Given the description of an element on the screen output the (x, y) to click on. 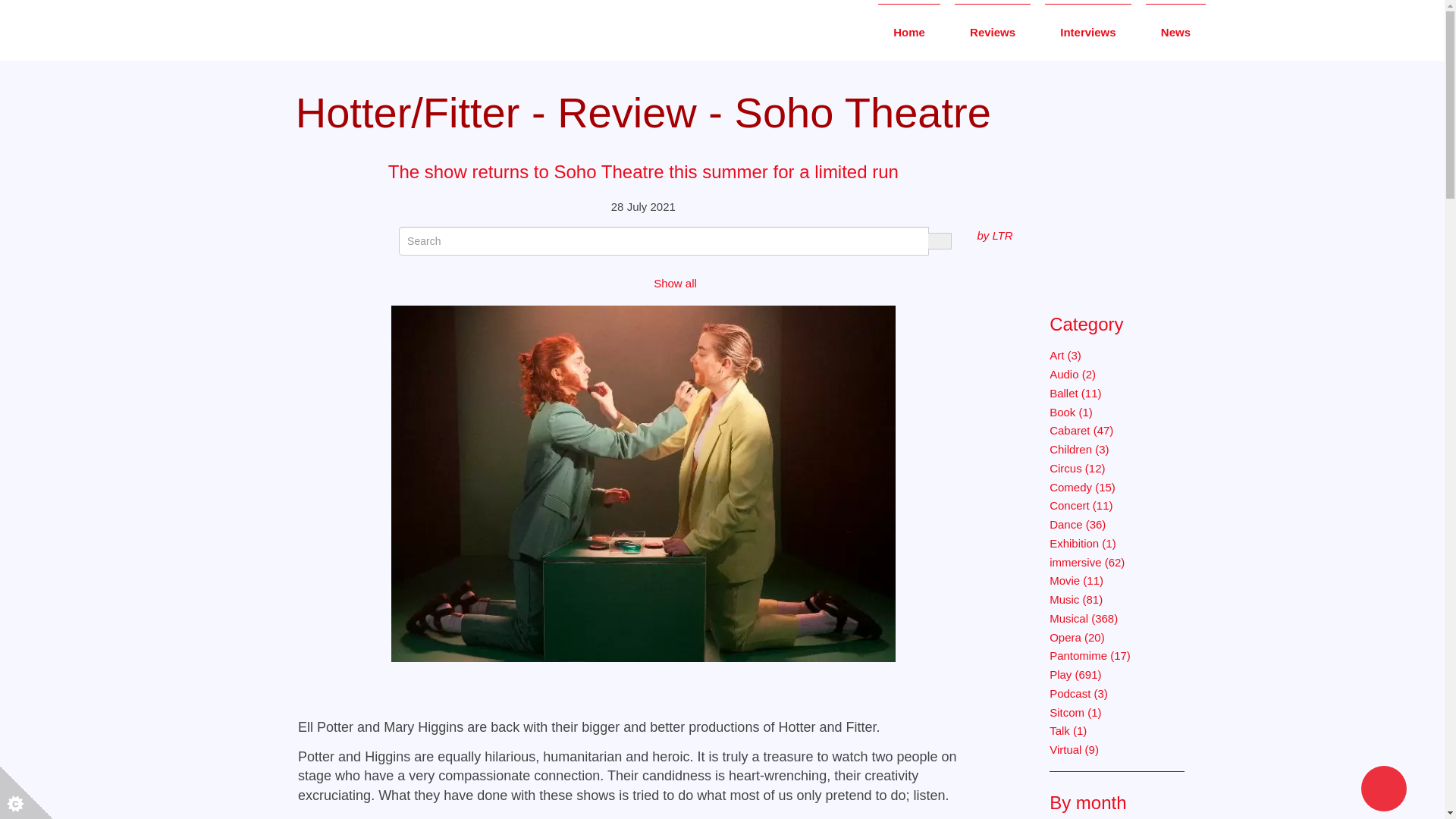
News (1175, 31)
Show all (675, 282)
Home (908, 31)
Reviews (992, 31)
Interviews (1088, 31)
by LTR (993, 235)
Cookie Control (26, 792)
